Given the description of an element on the screen output the (x, y) to click on. 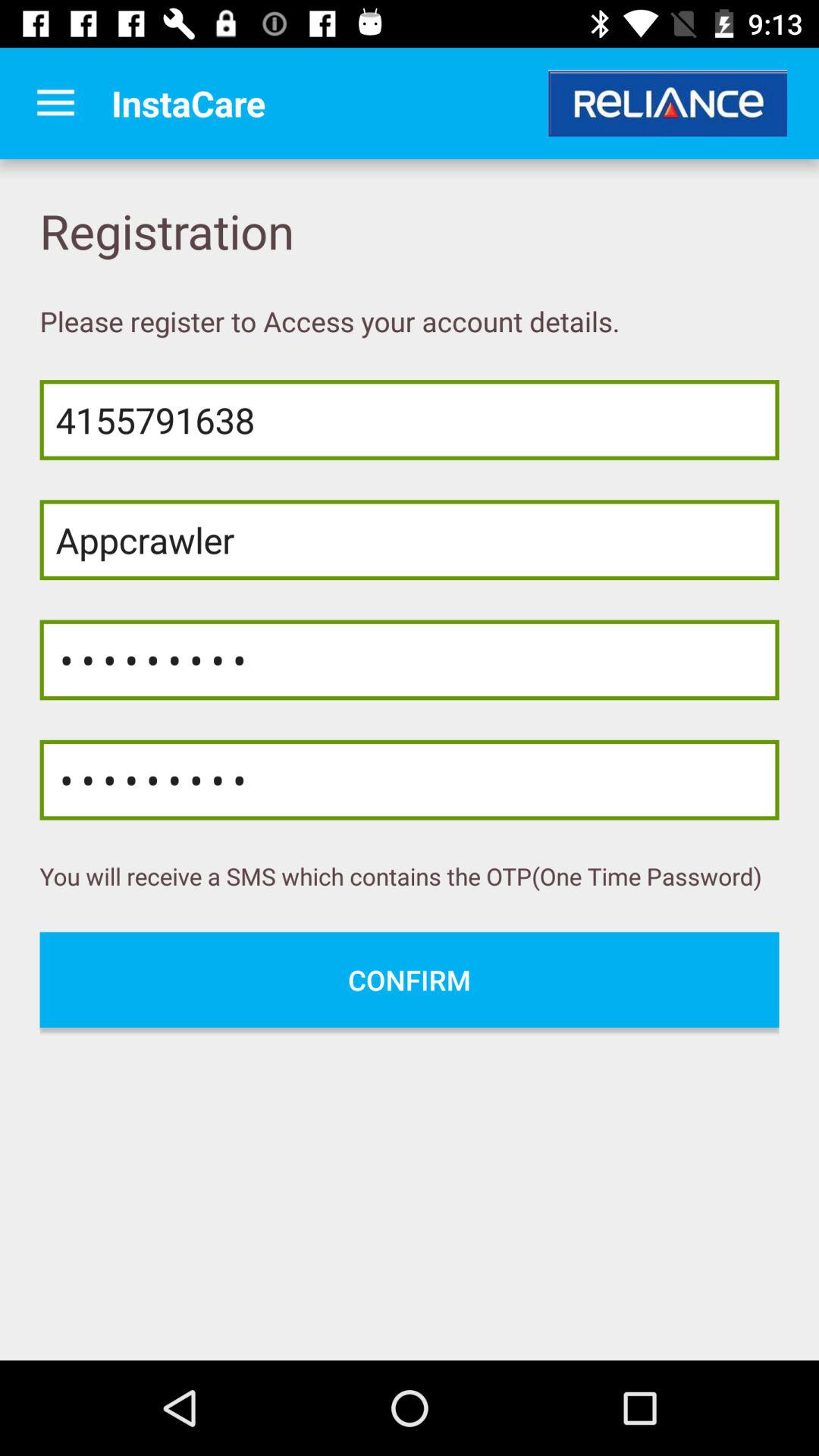
select the icon above the registration item (55, 103)
